Given the description of an element on the screen output the (x, y) to click on. 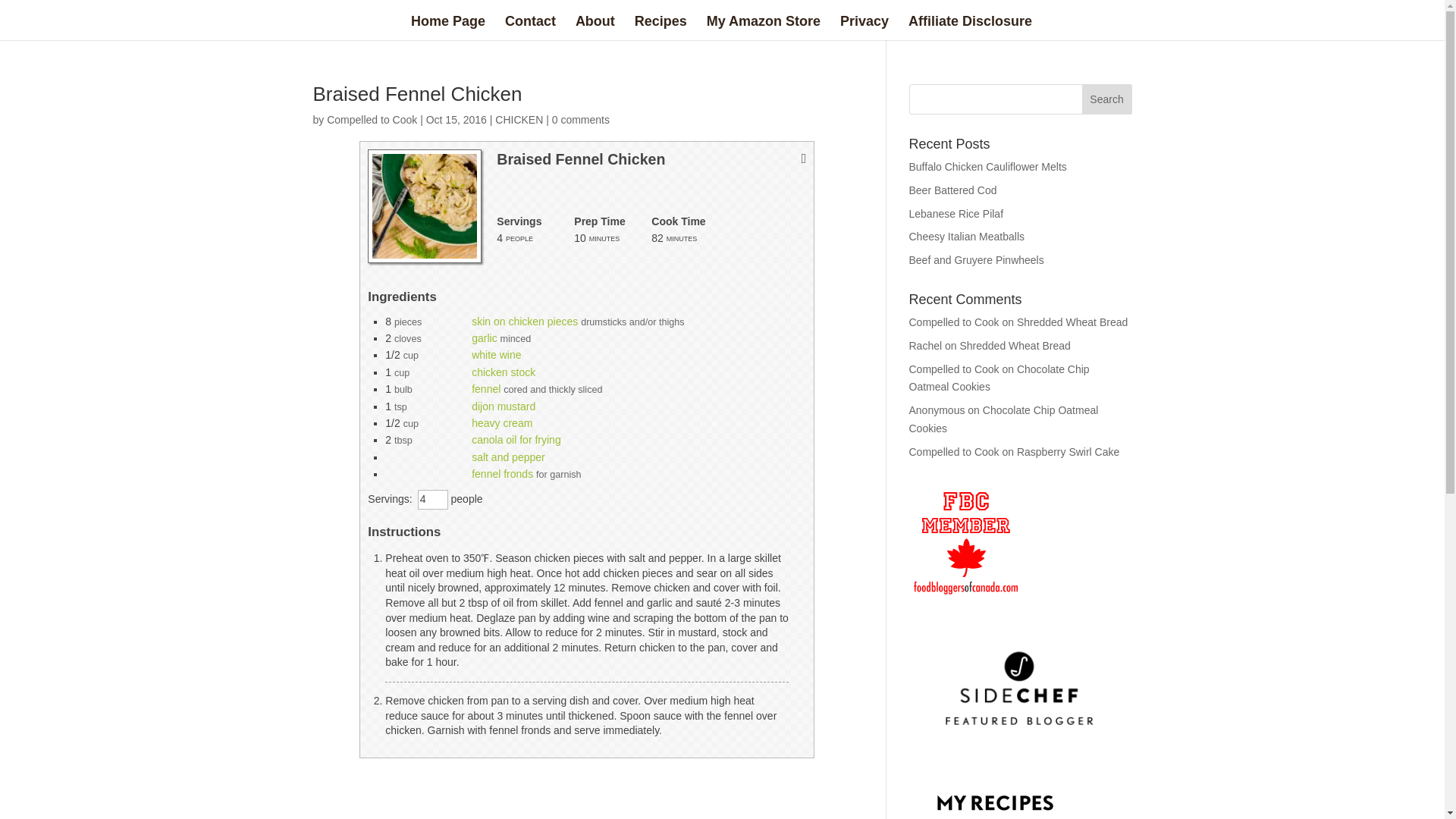
Contact (530, 27)
Shredded Wheat Bread (1014, 345)
Cheesy Italian Meatballs (966, 236)
Affiliate Disclosure (970, 27)
0 comments (580, 119)
Beer Battered Cod (951, 190)
Search (1106, 99)
Search (1106, 99)
chicken stock (503, 372)
Buffalo Chicken Cauliflower Melts (986, 166)
Shredded Wheat Bread (1071, 322)
My Amazon Store (763, 27)
skin on chicken pieces (524, 321)
About (594, 27)
Compelled to Cook (371, 119)
